Given the description of an element on the screen output the (x, y) to click on. 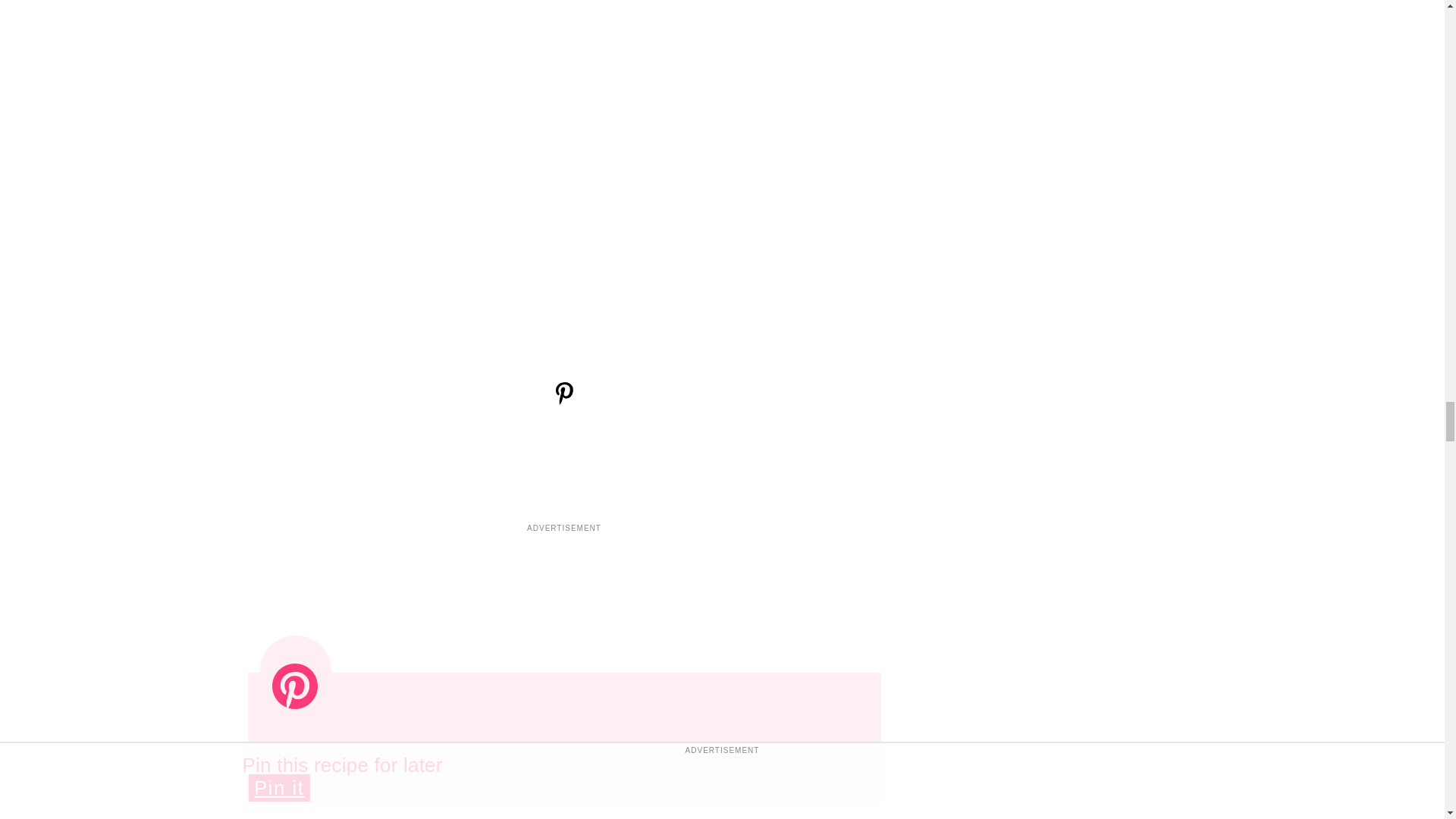
Pin It (563, 400)
